Given the description of an element on the screen output the (x, y) to click on. 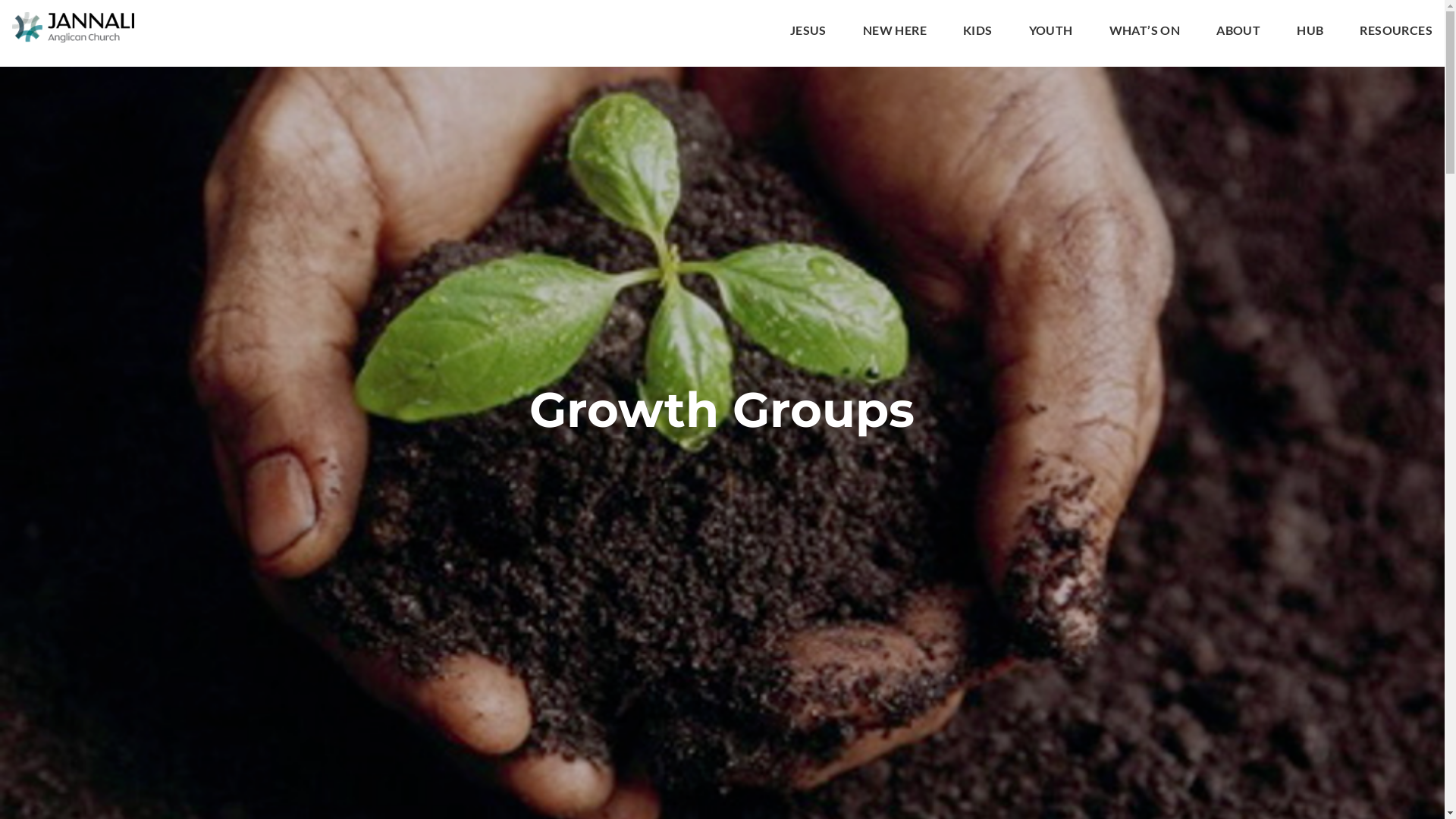
JESUS Element type: text (808, 33)
ABOUT Element type: text (1238, 33)
HUB Element type: text (1309, 33)
YOUTH Element type: text (1051, 33)
RESOURCES Element type: text (1395, 33)
NEW HERE Element type: text (894, 33)
KIDS Element type: text (977, 33)
